Given the description of an element on the screen output the (x, y) to click on. 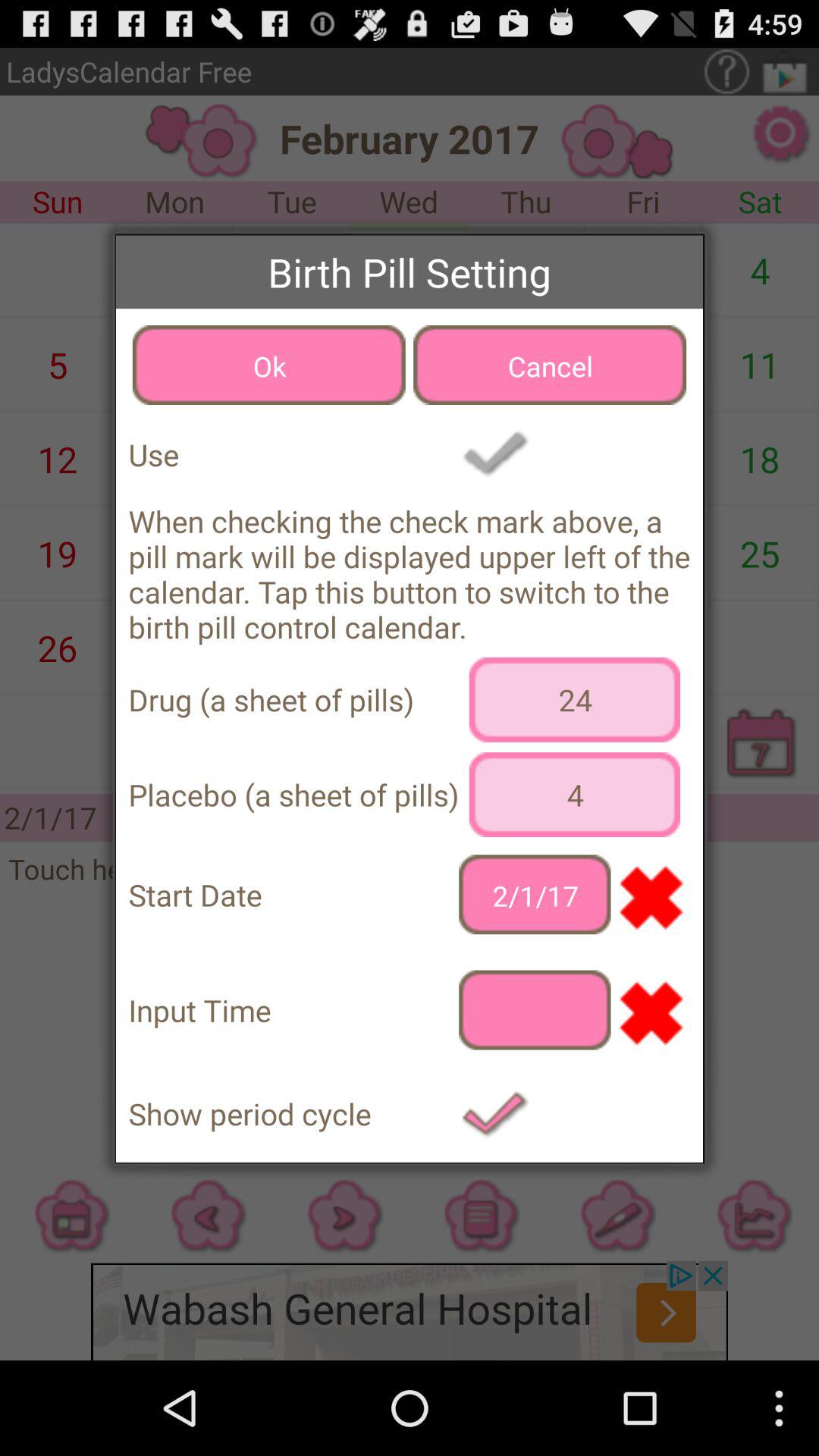
tap the icon next to the ok item (549, 364)
